Given the description of an element on the screen output the (x, y) to click on. 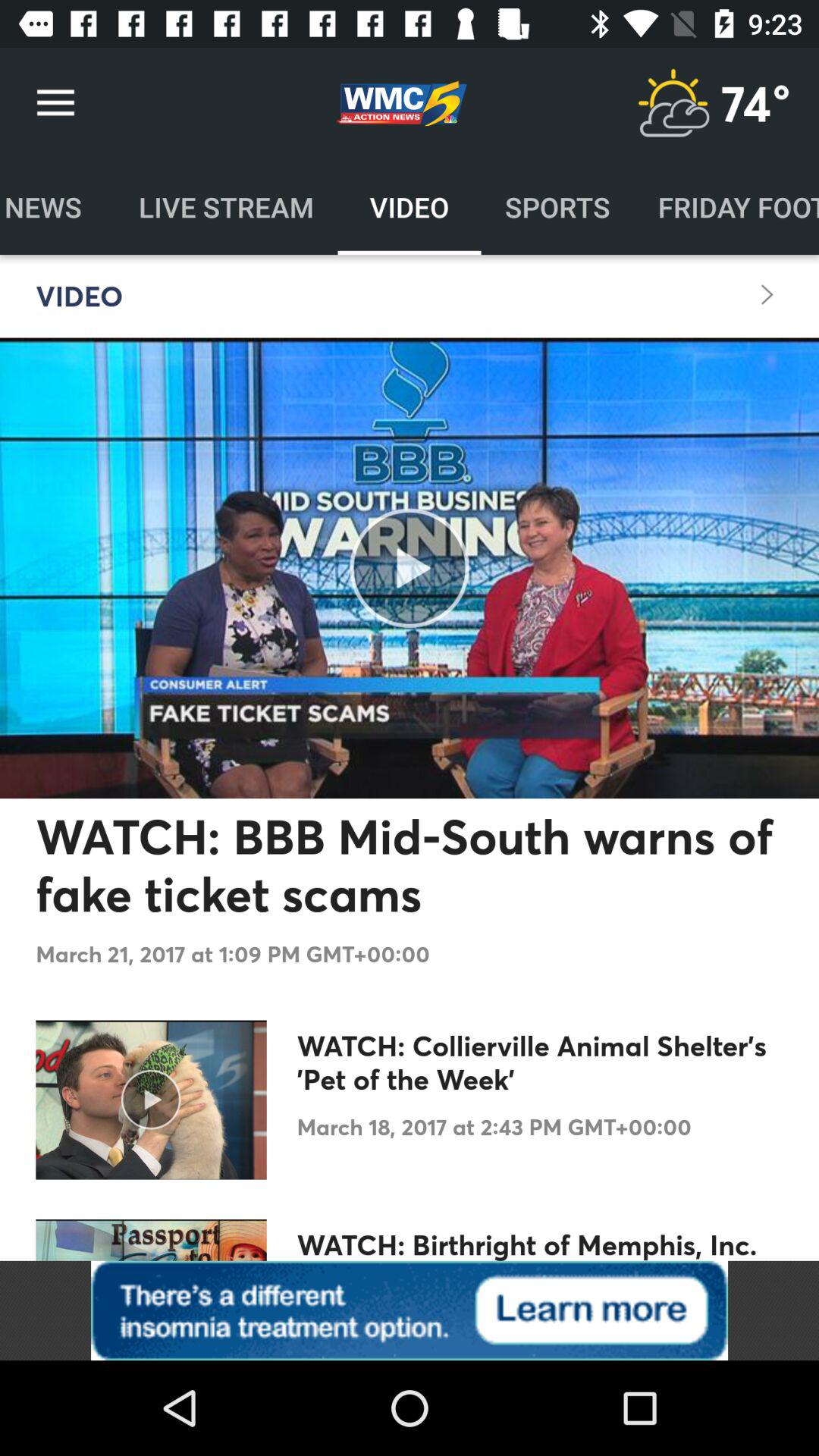
advertisement (409, 1310)
